Given the description of an element on the screen output the (x, y) to click on. 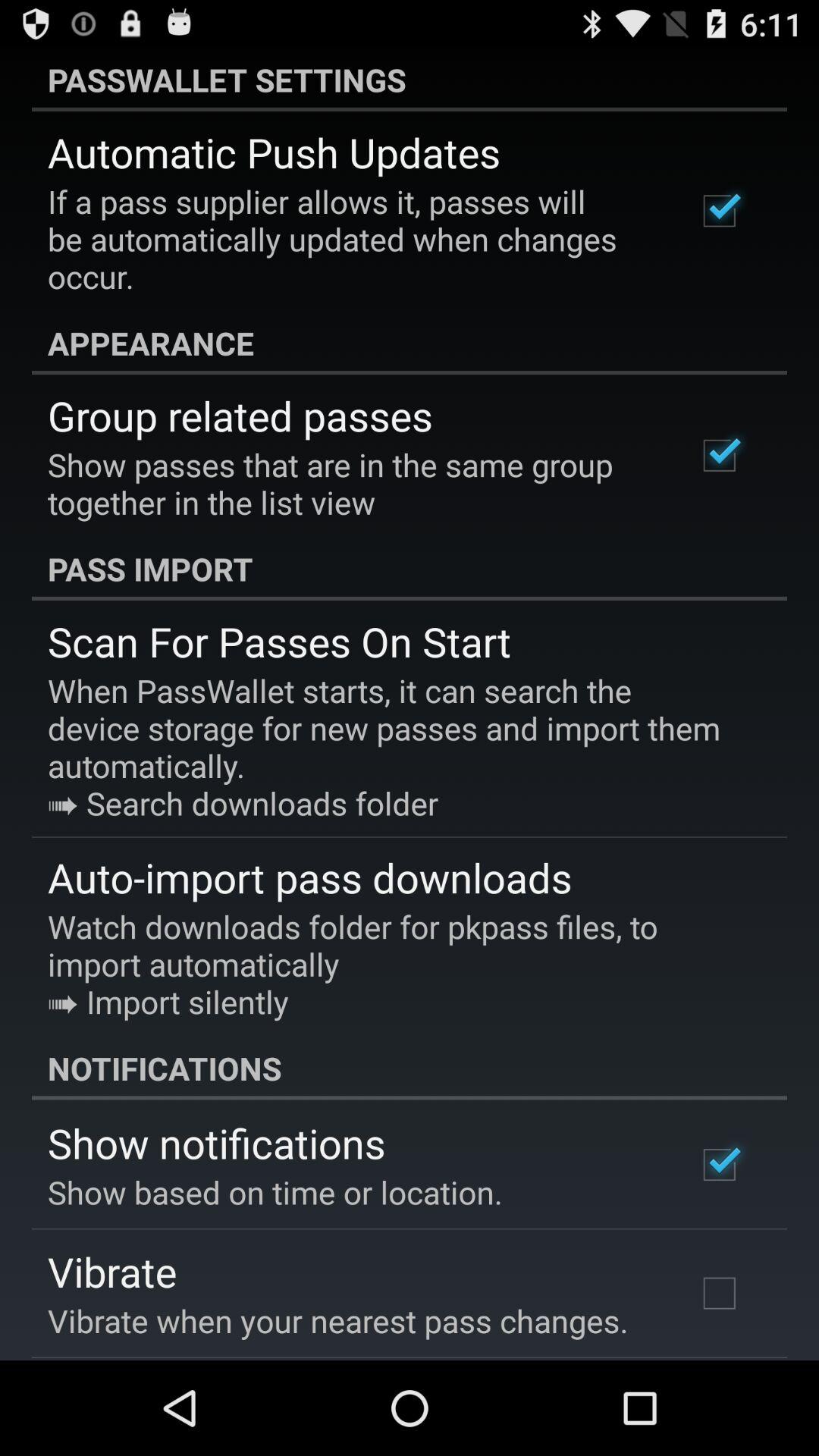
choose icon above vibrate app (274, 1191)
